Given the description of an element on the screen output the (x, y) to click on. 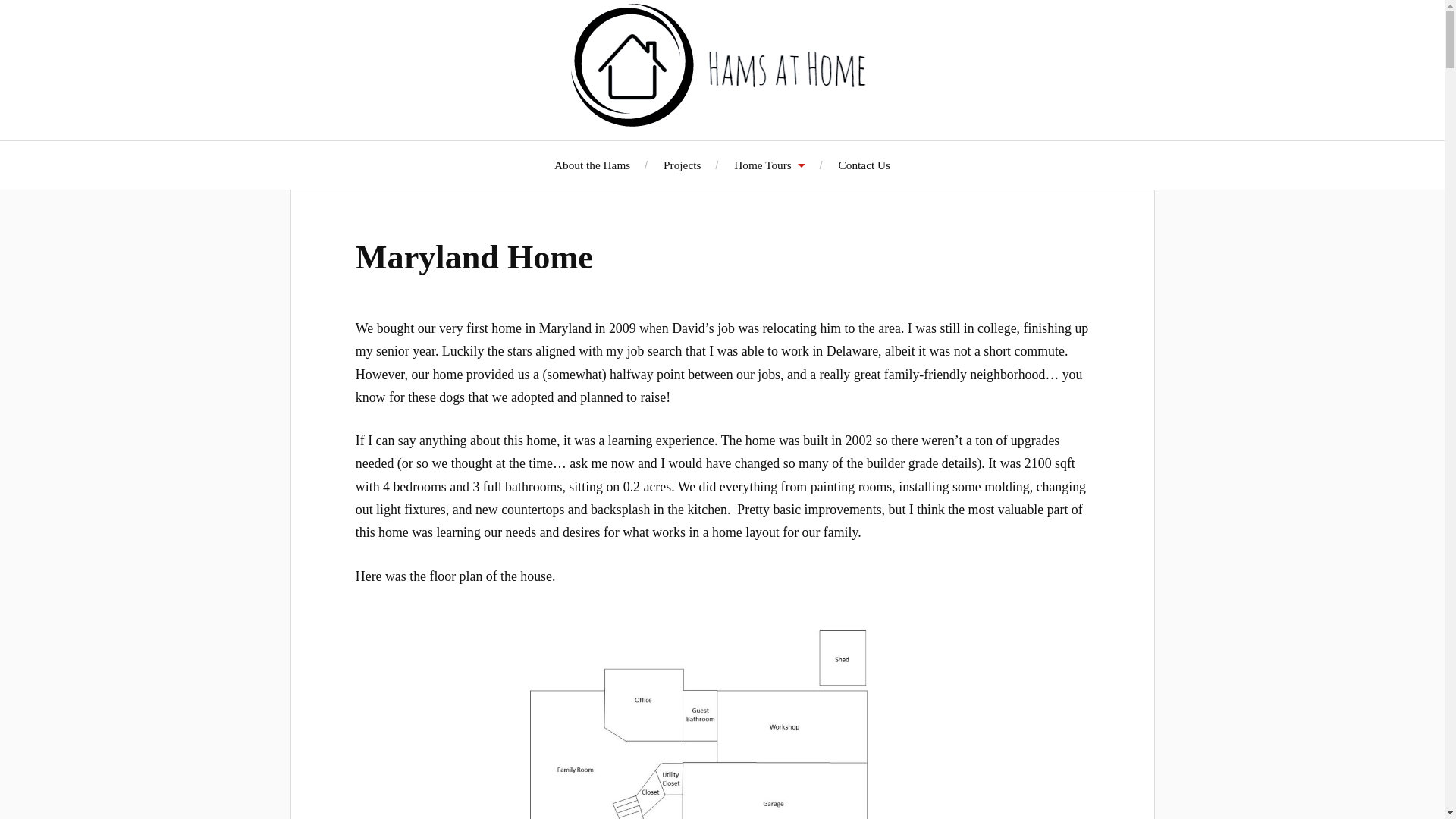
About the Hams (592, 164)
Home Tours (769, 164)
Maryland Home (473, 257)
Contact Us (863, 164)
